Given the description of an element on the screen output the (x, y) to click on. 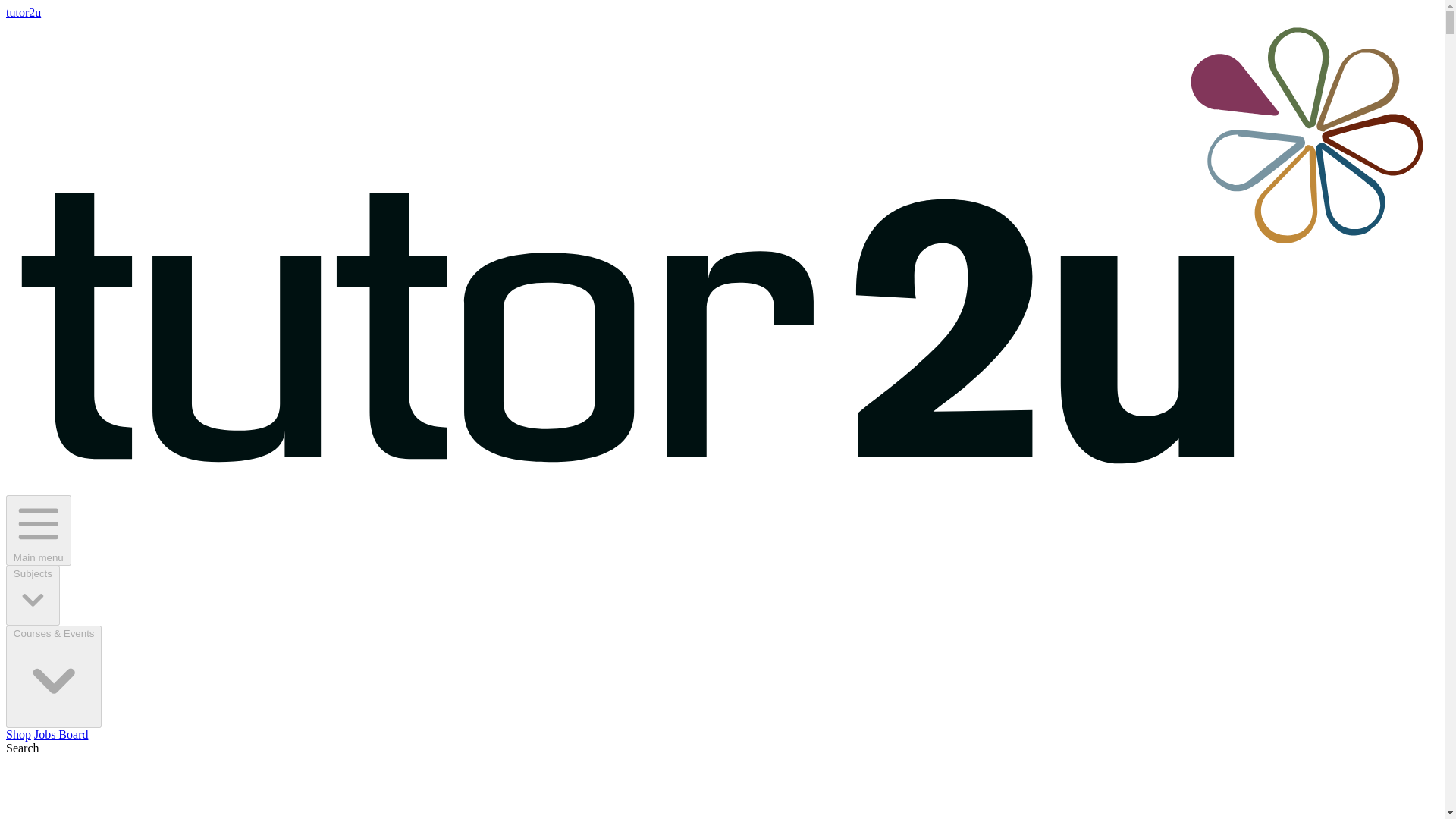
Main menu (38, 530)
Subjects (32, 595)
Shop (17, 734)
Jobs Board (60, 734)
